Given the description of an element on the screen output the (x, y) to click on. 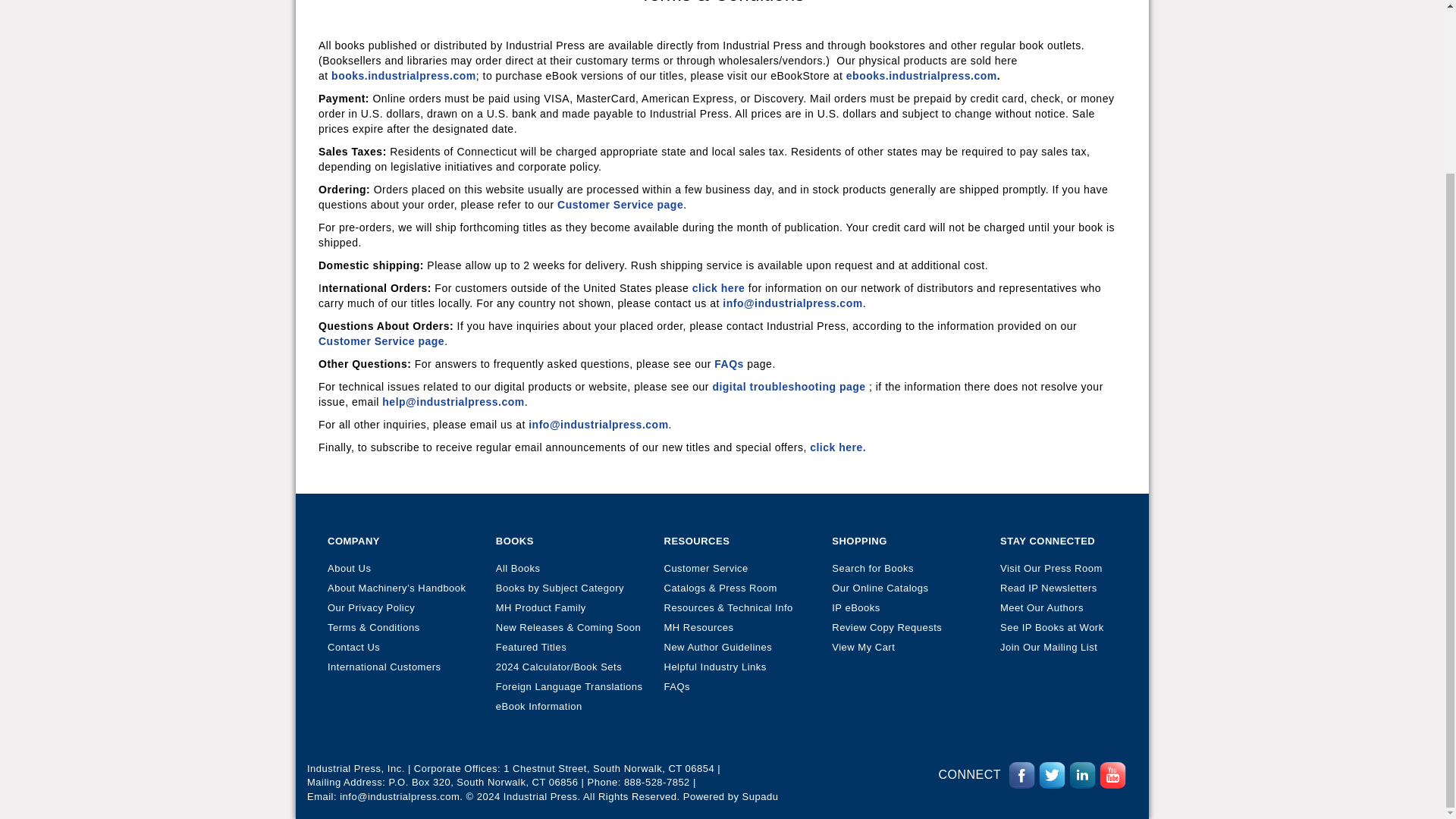
ebooks.industrialpress.com (921, 75)
Follow us on LinkedIn (1082, 775)
Customer Service page (619, 204)
Follow us on YouTube (1112, 775)
Follow us on Facebook (1022, 775)
books.industrialpress.com (403, 75)
